Given the description of an element on the screen output the (x, y) to click on. 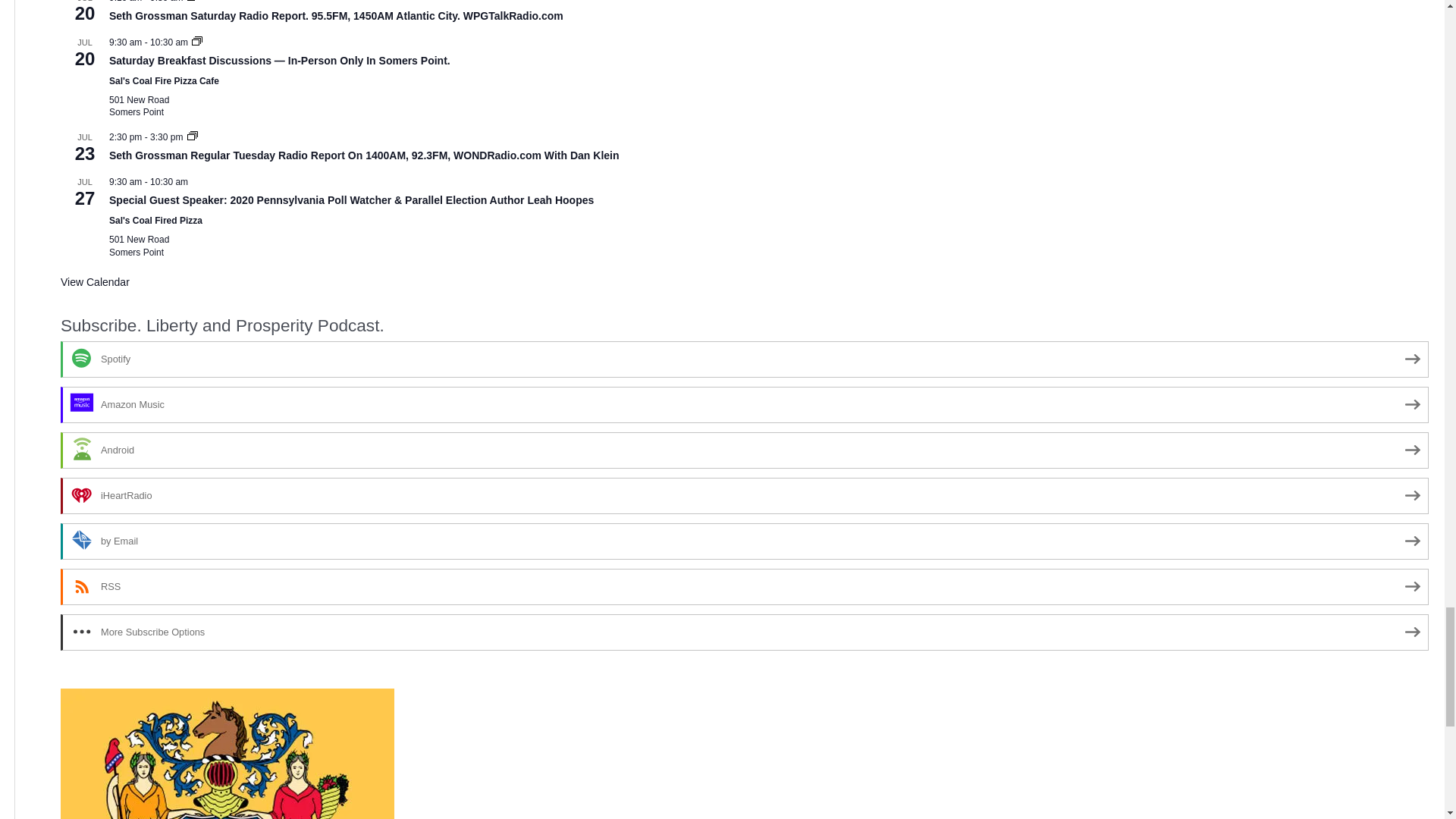
Event Series (197, 40)
Event Series (192, 135)
Event Series (197, 41)
Event Series (192, 1)
Event Series (192, 136)
